Given the description of an element on the screen output the (x, y) to click on. 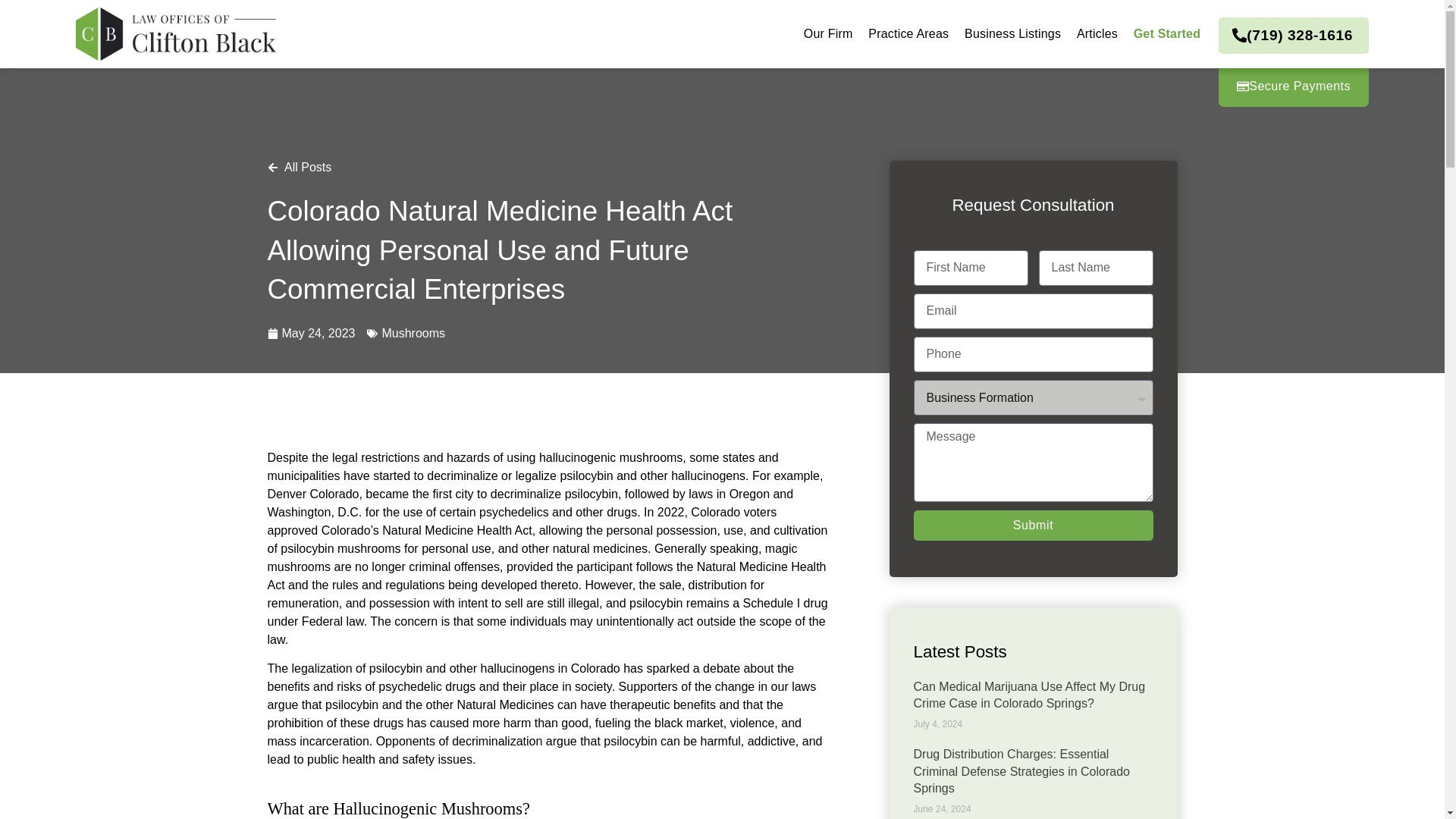
Our Firm (828, 33)
Practice Areas (908, 33)
